Given the description of an element on the screen output the (x, y) to click on. 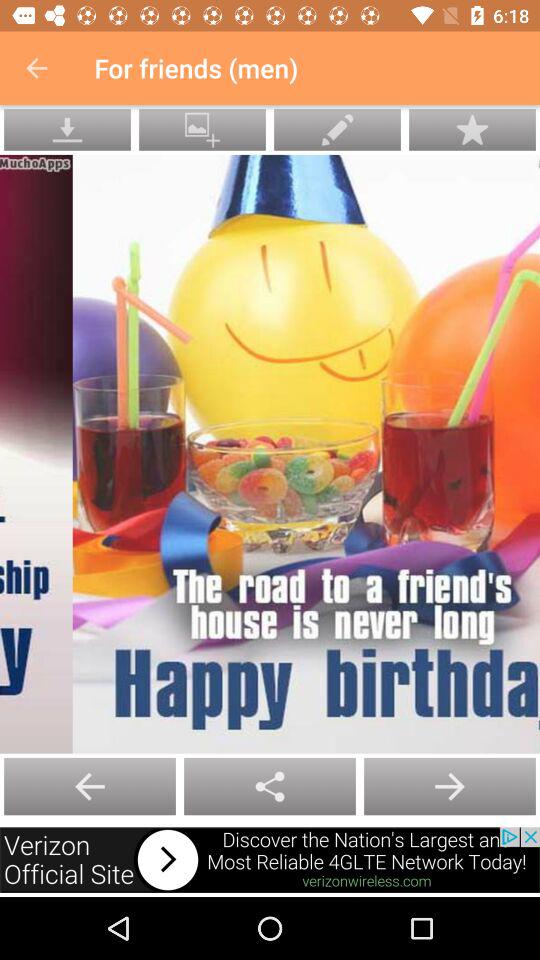
advertisement (270, 859)
